Given the description of an element on the screen output the (x, y) to click on. 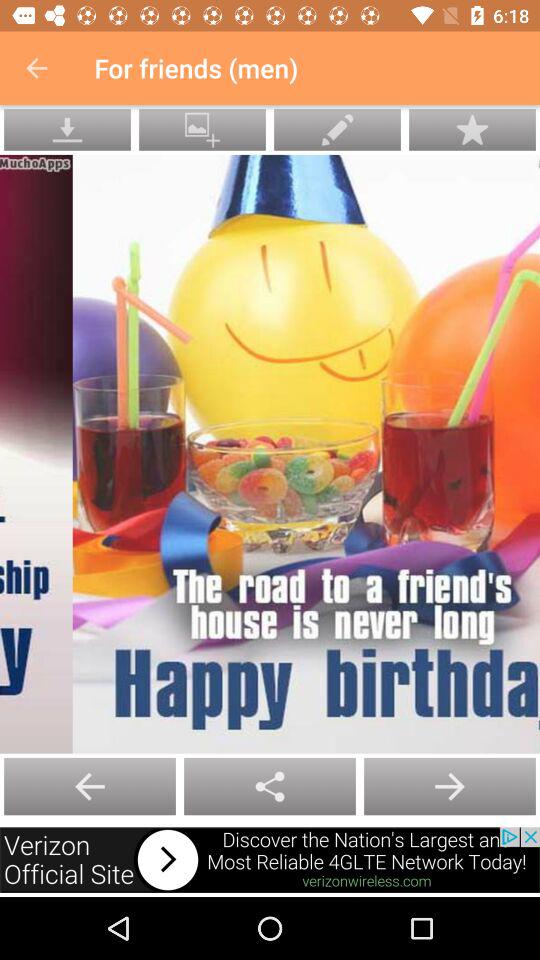
advertisement (270, 859)
